Given the description of an element on the screen output the (x, y) to click on. 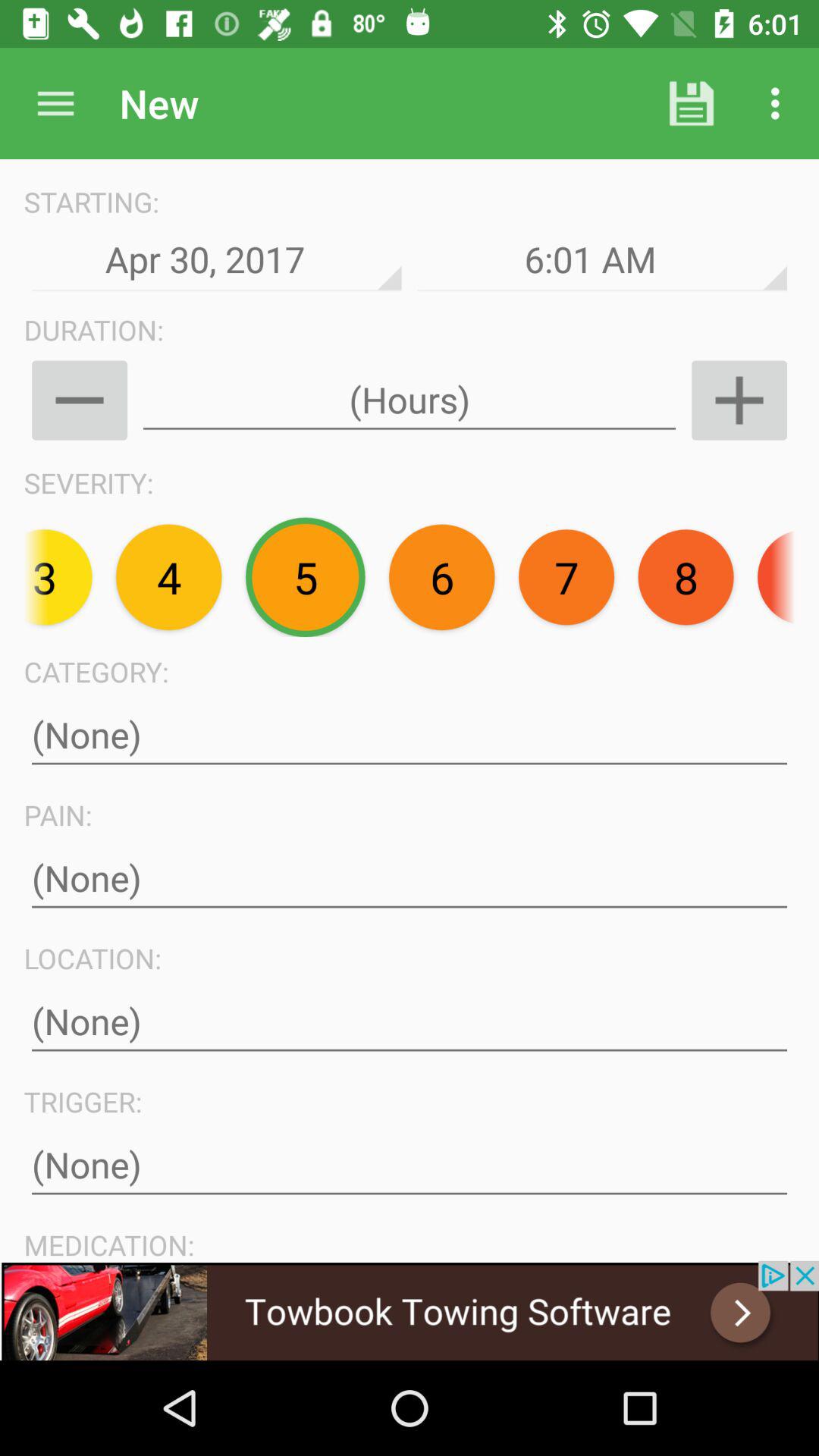
this button zoom options (739, 400)
